Given the description of an element on the screen output the (x, y) to click on. 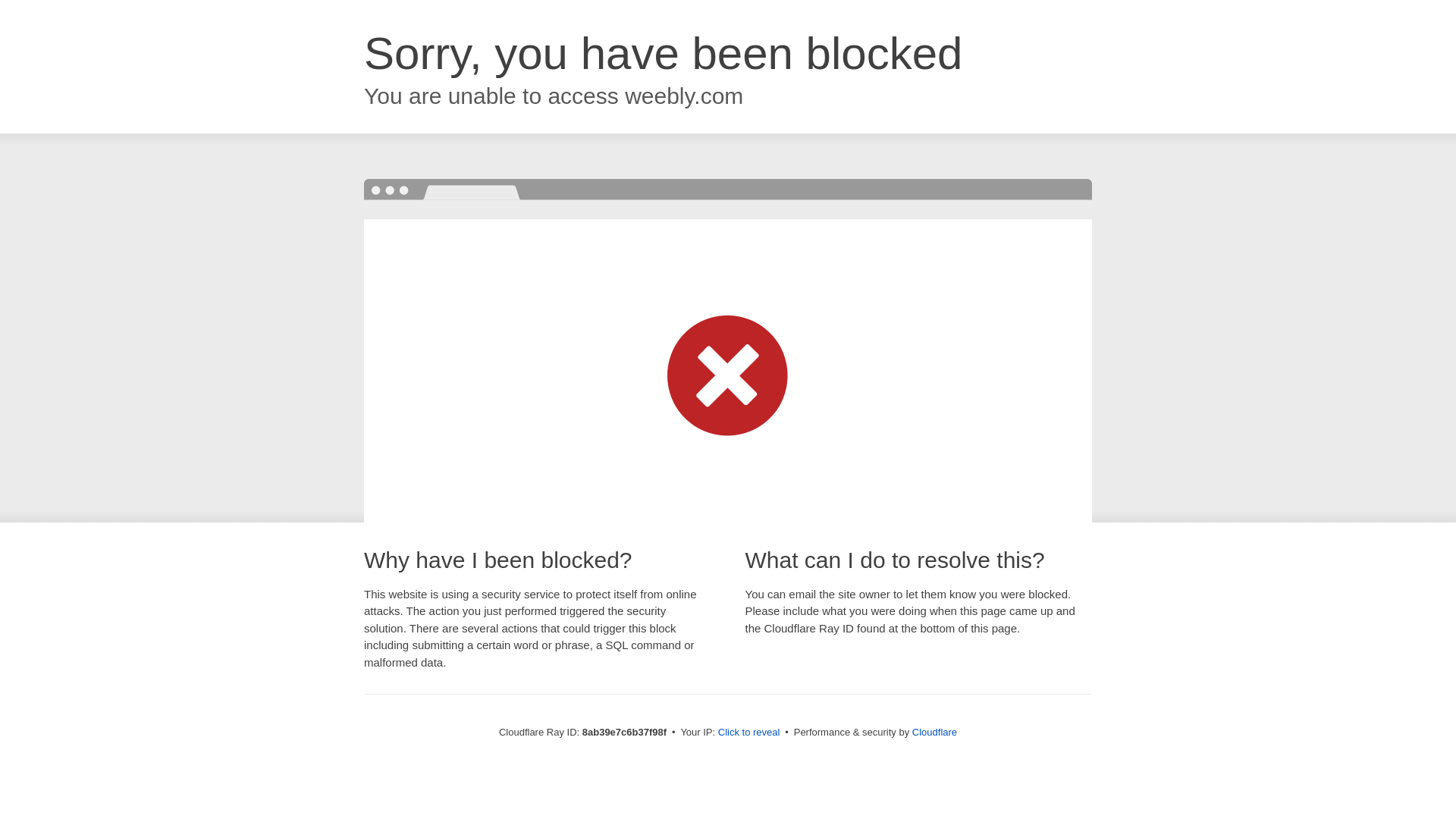
Click to reveal (748, 732)
Cloudflare (934, 731)
